Given the description of an element on the screen output the (x, y) to click on. 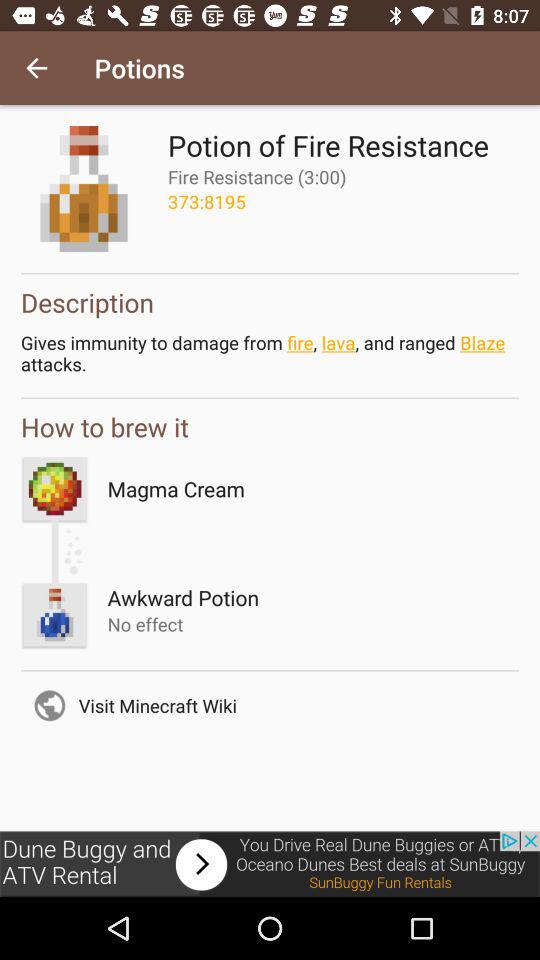
click the dune buggy advertisement (270, 864)
